Given the description of an element on the screen output the (x, y) to click on. 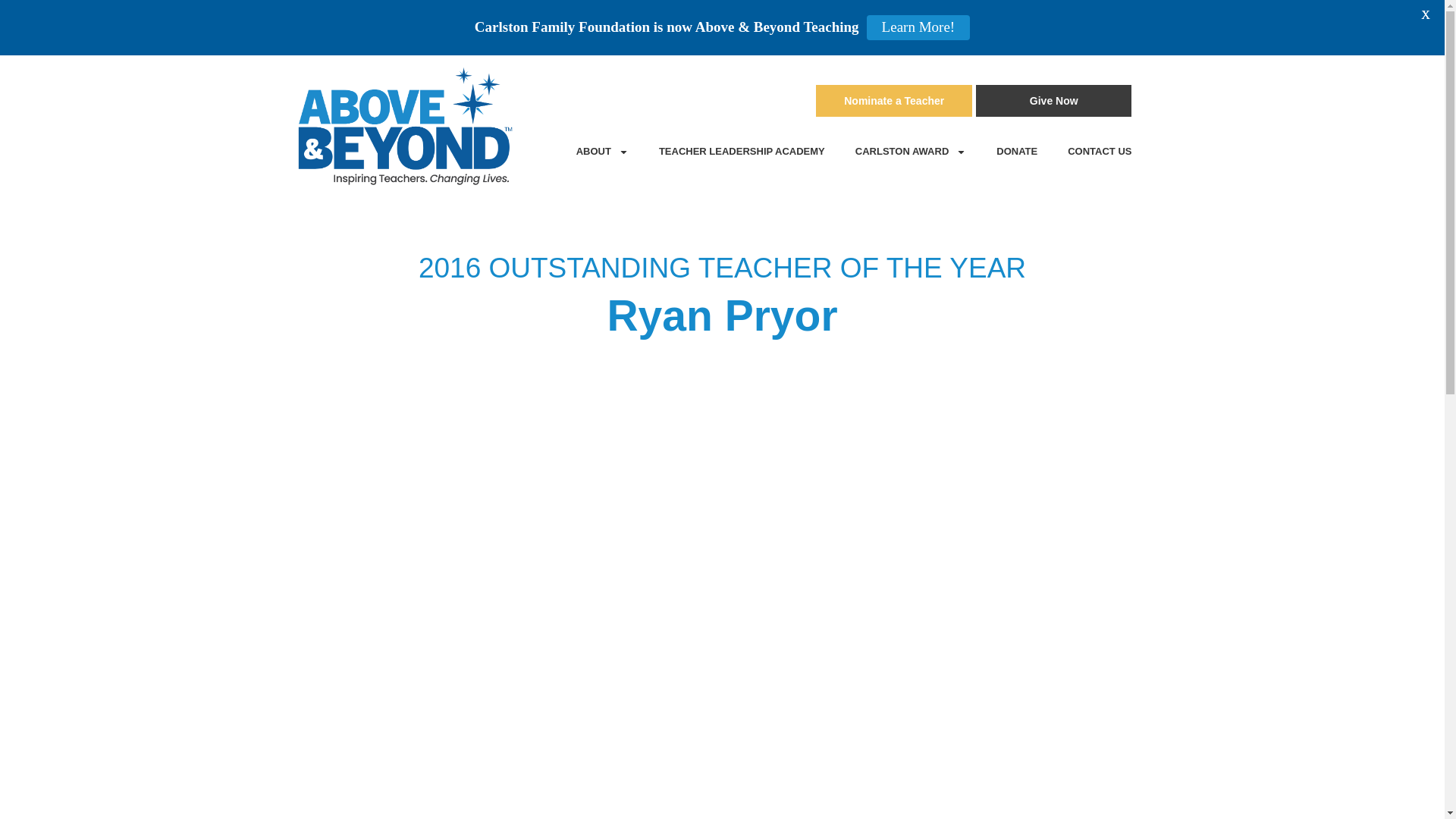
2016 (449, 267)
2016 OUTSTANDING TEACHER OF THE YEAR (722, 256)
Learn More! (918, 27)
TEACHER LEADERSHIP ACADEMY (836, 101)
ABOUT (741, 151)
CONTACT US (601, 151)
DONATE (1099, 151)
Nominate a Teacher (1016, 151)
Give Now (893, 101)
Ryan Pryor (1053, 101)
CARLSTON AWARD (722, 322)
